Given the description of an element on the screen output the (x, y) to click on. 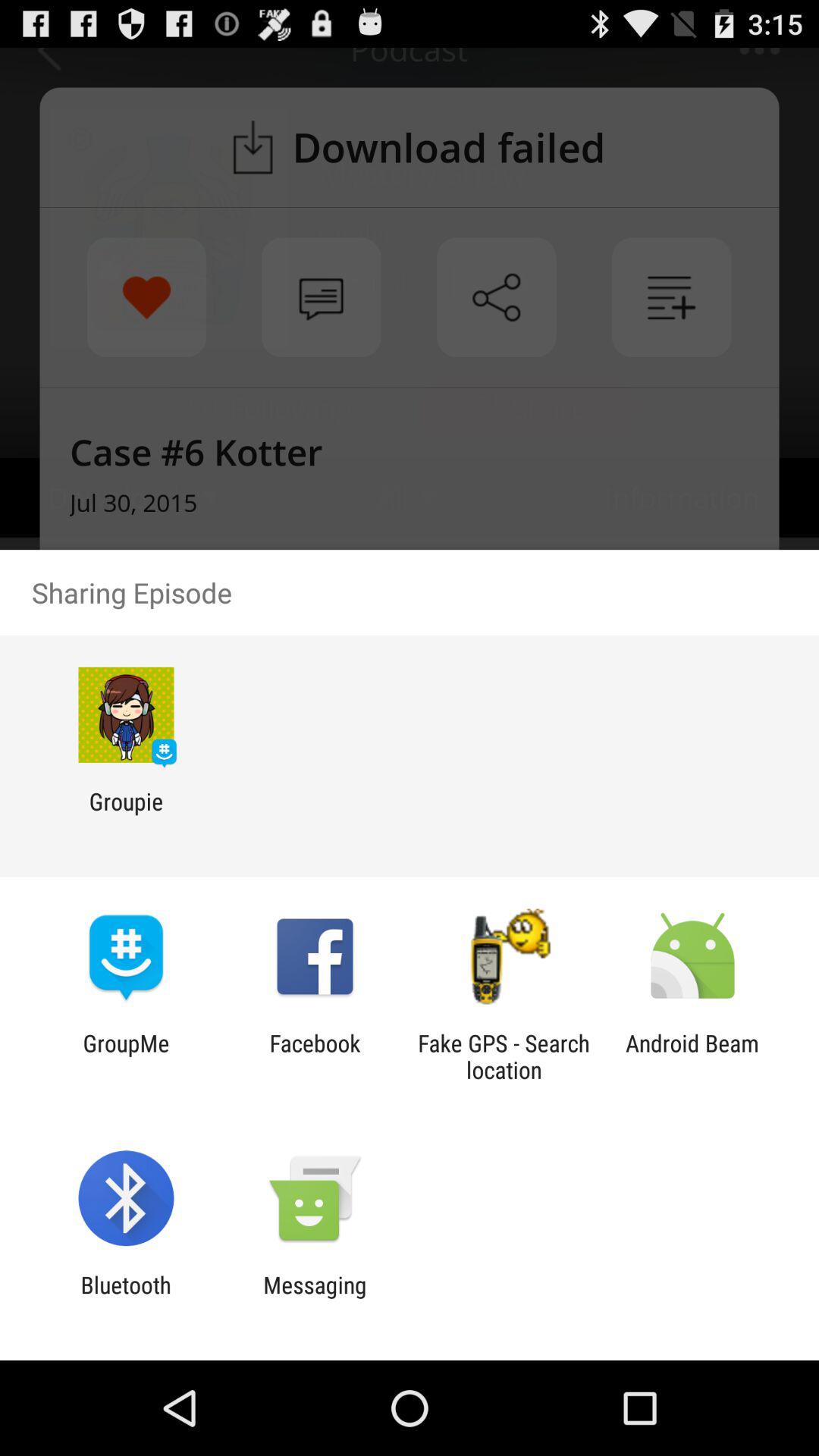
click android beam icon (692, 1056)
